Given the description of an element on the screen output the (x, y) to click on. 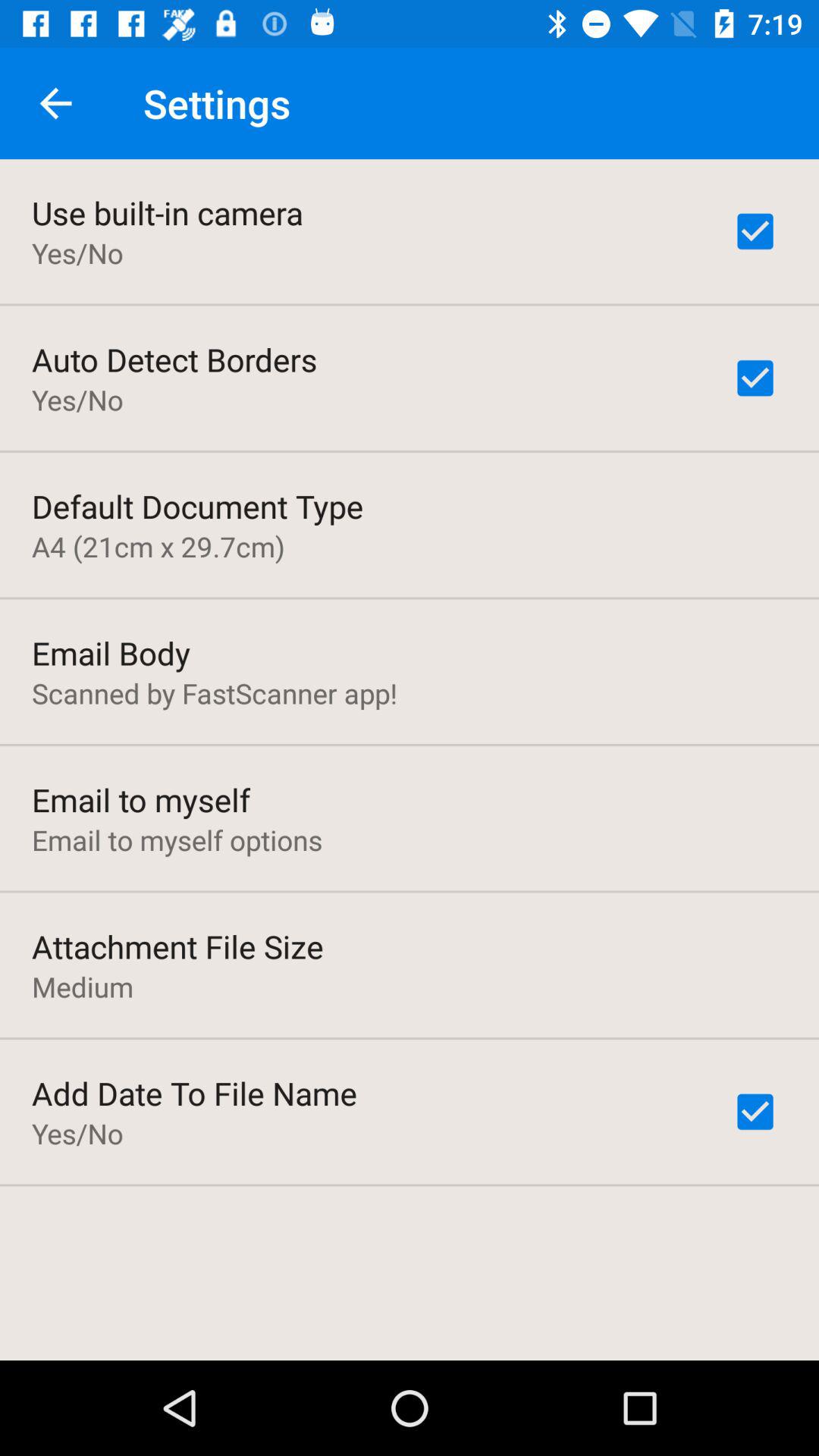
tap icon above use built in (55, 103)
